Given the description of an element on the screen output the (x, y) to click on. 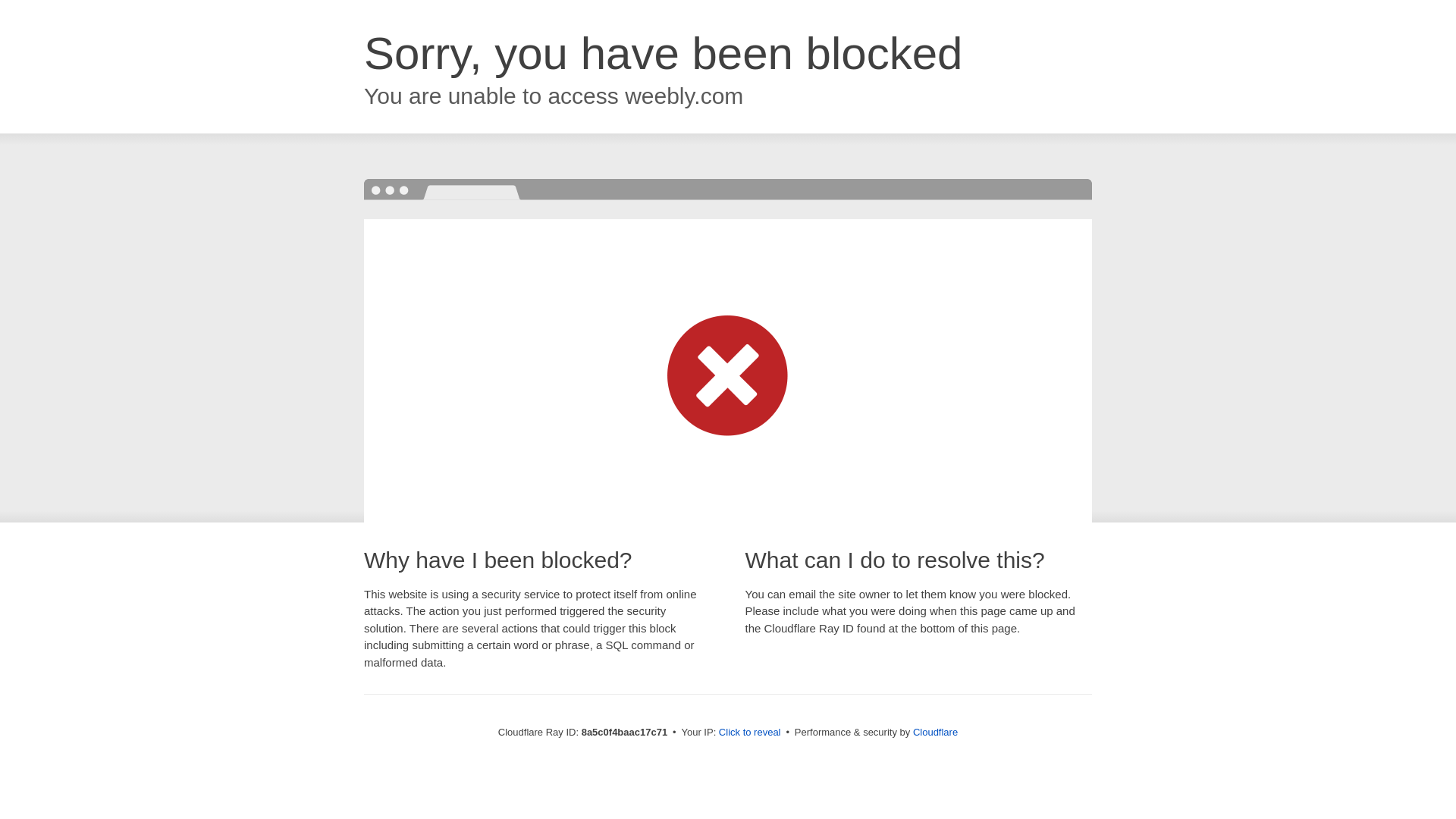
Cloudflare (935, 731)
Click to reveal (749, 732)
